Given the description of an element on the screen output the (x, y) to click on. 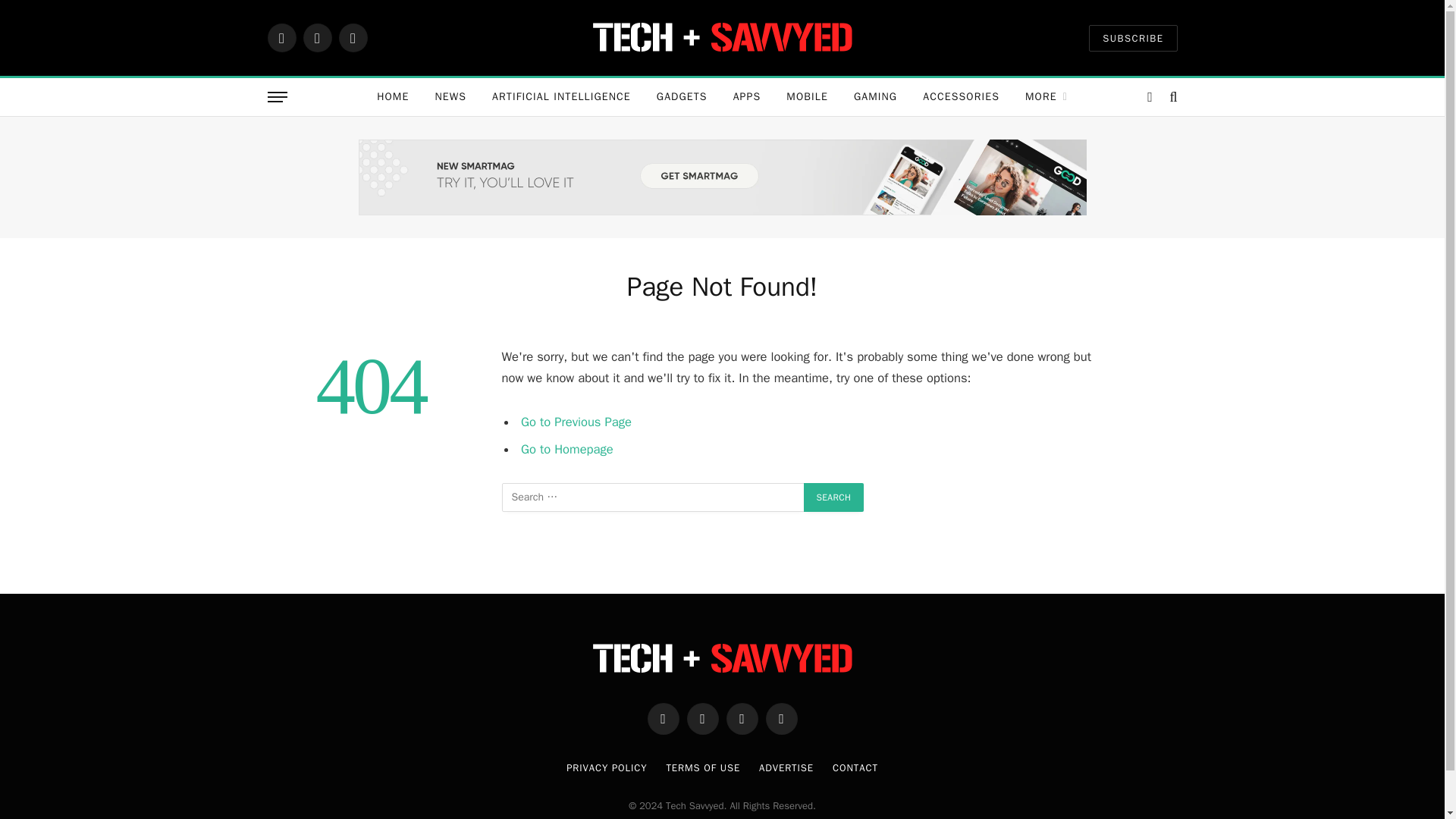
Switch to Dark Design - easier on eyes. (1149, 97)
MOBILE (807, 96)
MORE (1045, 96)
Tech Savvyed (722, 38)
ACCESSORIES (960, 96)
GAMING (875, 96)
Instagram (351, 37)
Facebook (280, 37)
NEWS (450, 96)
GADGETS (681, 96)
HOME (393, 96)
SUBSCRIBE (1132, 37)
ARTIFICIAL INTELLIGENCE (561, 96)
Search (833, 497)
APPS (747, 96)
